Given the description of an element on the screen output the (x, y) to click on. 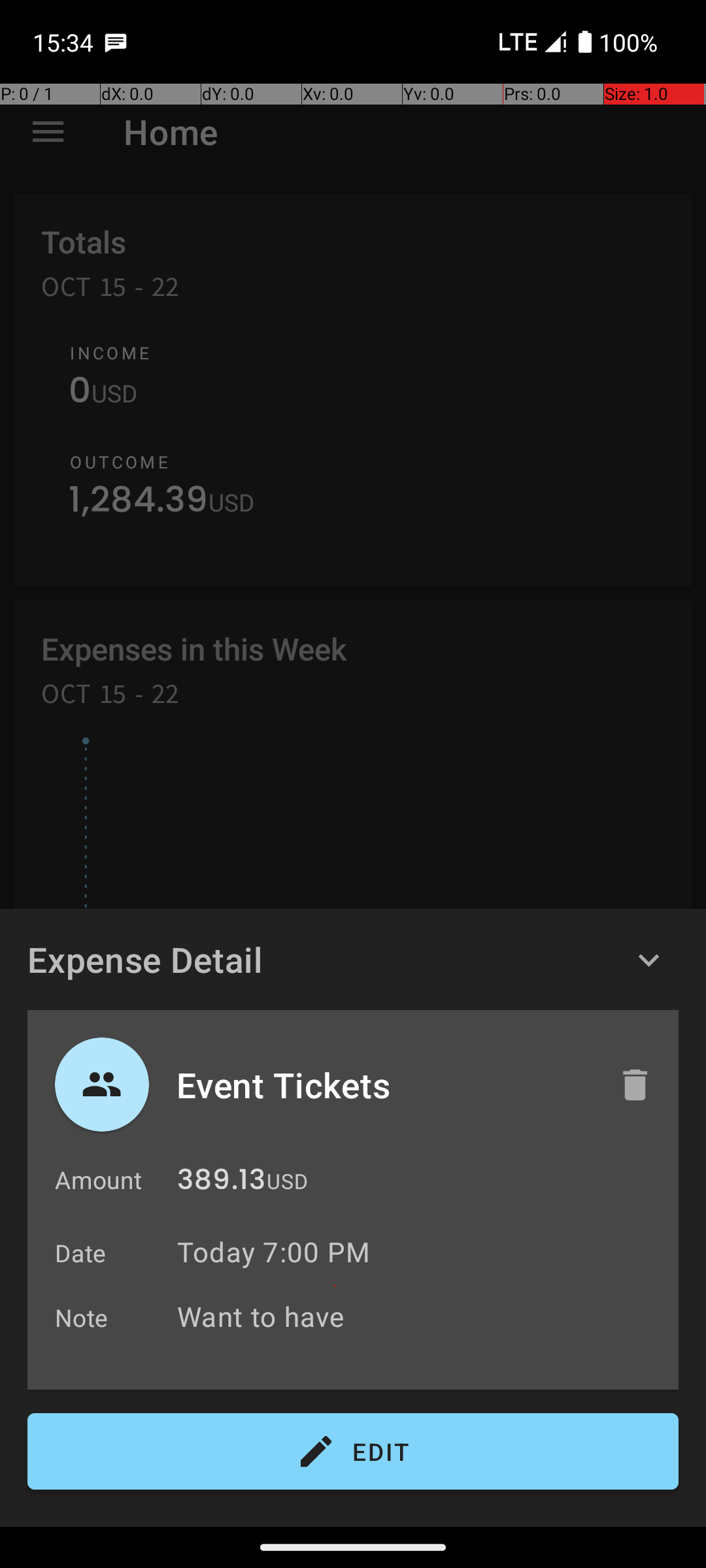
Event Tickets Element type: android.widget.TextView (383, 1084)
389.13 Element type: android.widget.TextView (221, 1182)
